Given the description of an element on the screen output the (x, y) to click on. 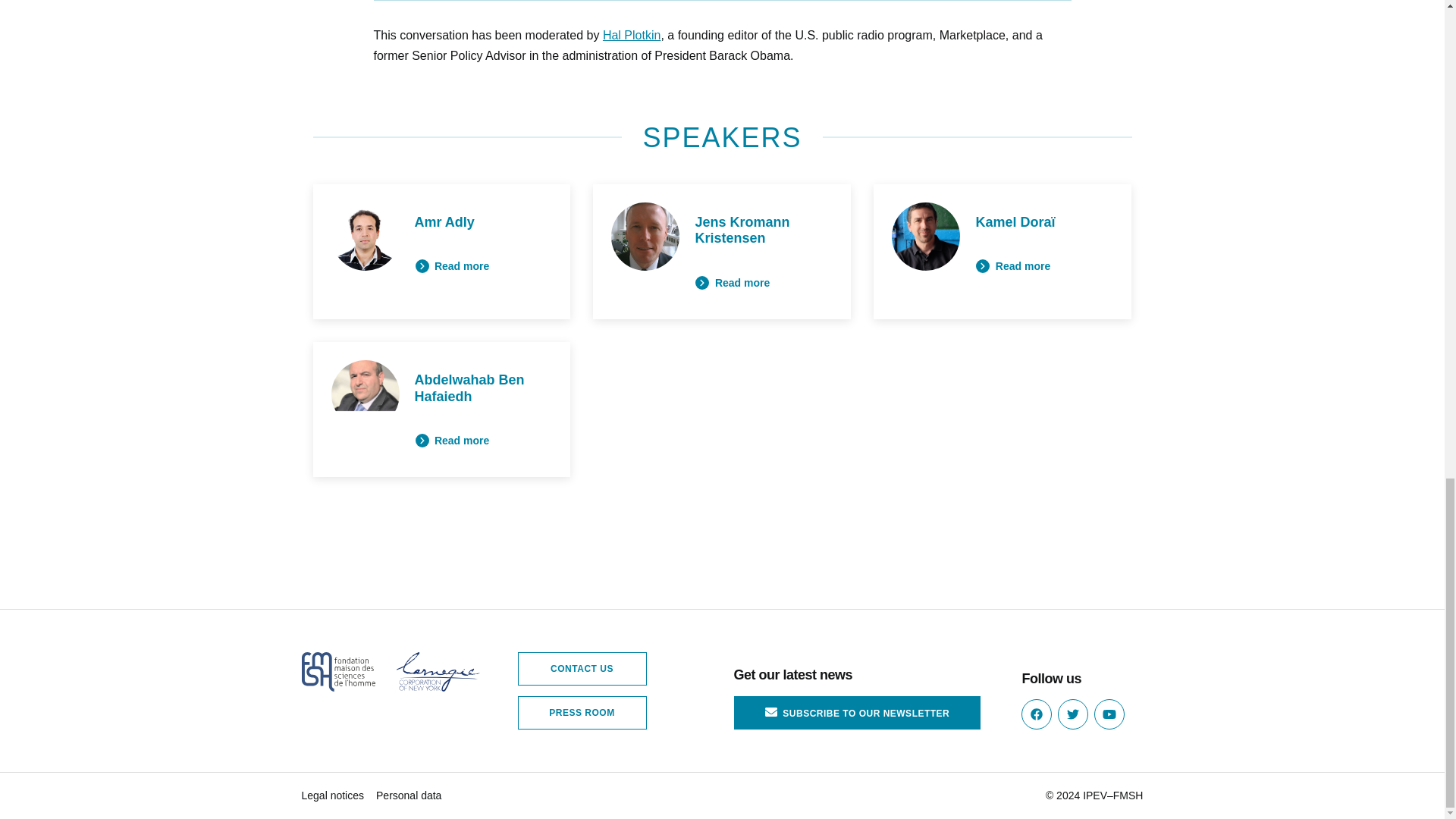
Youtube (1109, 714)
Abdelwahab Ben Hafaiedh (468, 388)
Facebook (1036, 714)
Hal Plotkin (631, 34)
PRESS ROOM (581, 712)
Twitter (1072, 714)
Amr Adly (443, 222)
Personal data (408, 795)
Jens Kromann Kristensen (741, 230)
SUBSCRIBE TO OUR NEWSLETTER (857, 713)
Legal notices (333, 795)
CONTACT US (581, 668)
